Given the description of an element on the screen output the (x, y) to click on. 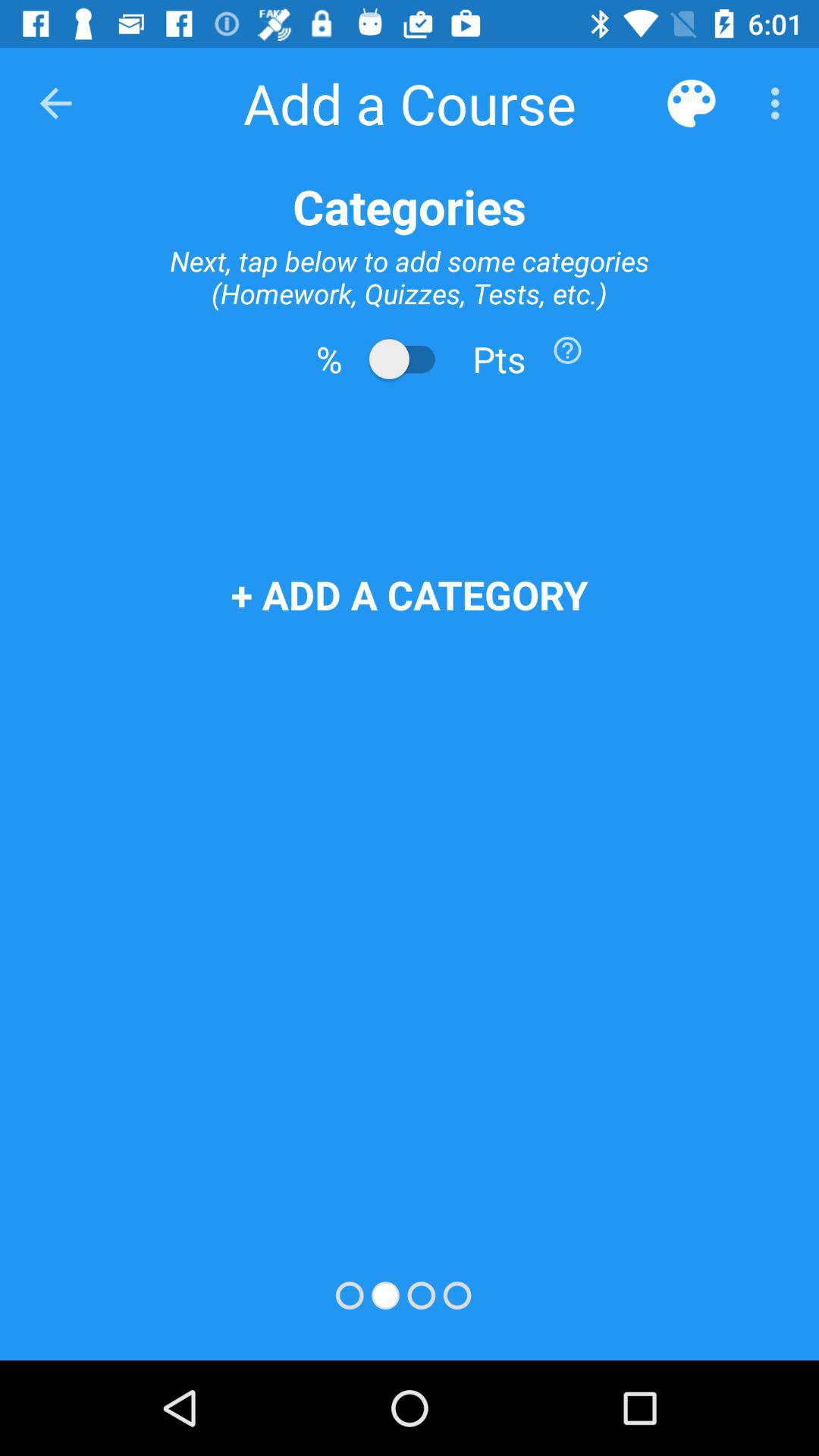
choose the icon at the top left corner (55, 103)
